Given the description of an element on the screen output the (x, y) to click on. 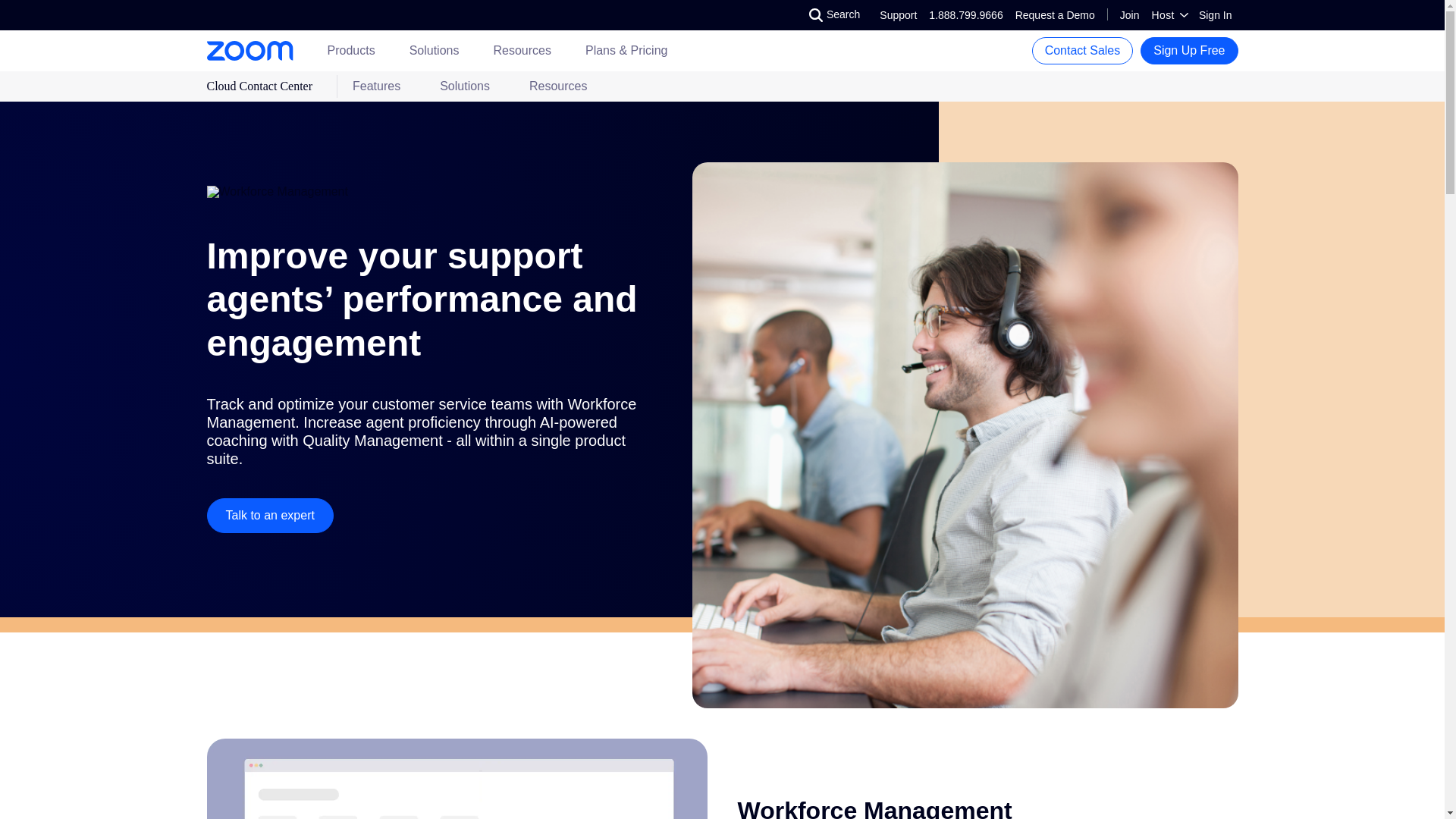
Request a Demo (898, 15)
Request a Demo (1054, 15)
Products (1054, 15)
Sign In (965, 15)
Support (351, 50)
Join (1214, 15)
